Given the description of an element on the screen output the (x, y) to click on. 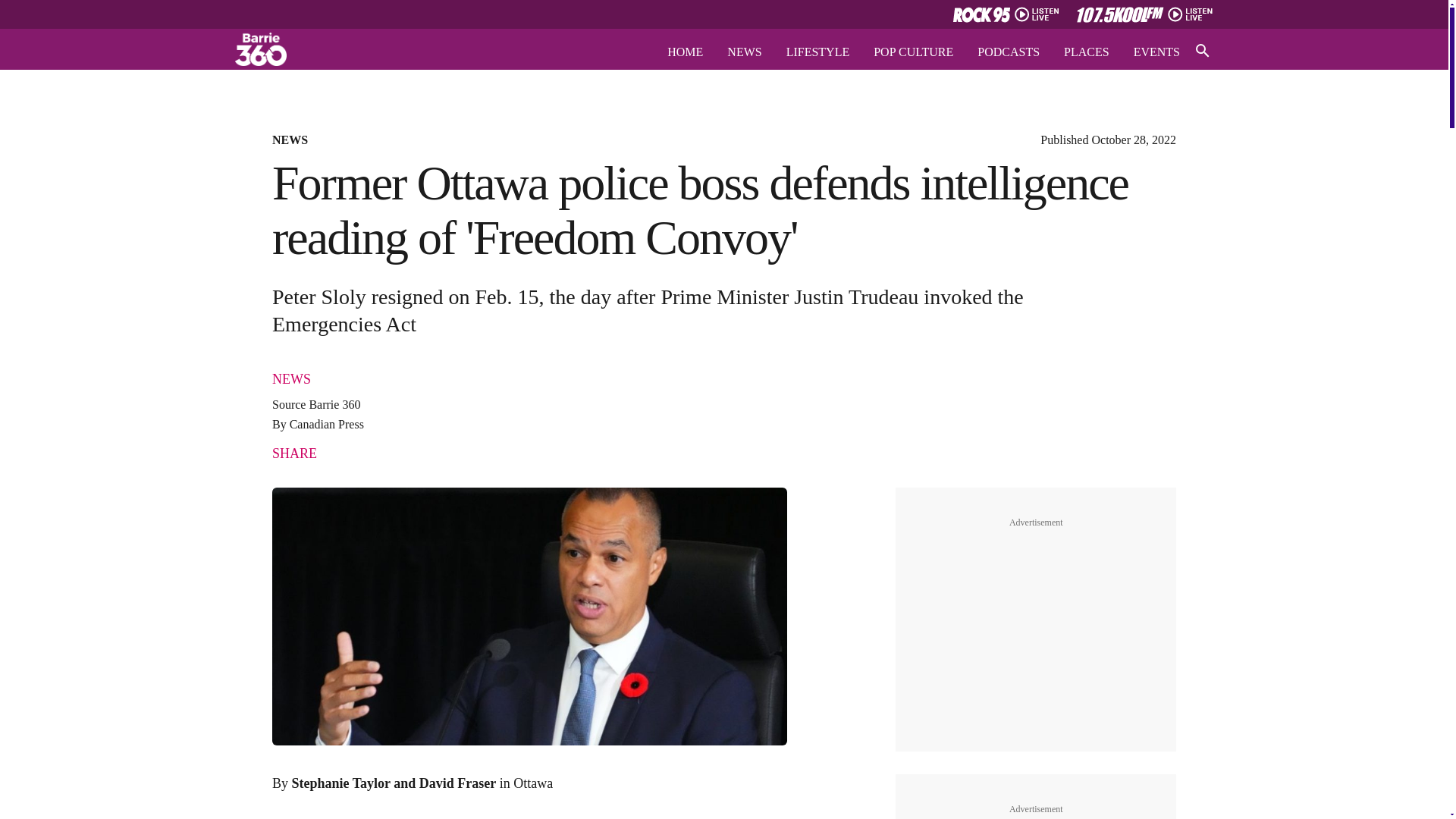
Barrie 360 (333, 404)
Canadian Press (326, 423)
Search (27, 10)
SHARE (294, 452)
POP CULTURE (913, 51)
PLACES (1086, 51)
EVENTS (1156, 51)
LIFESTYLE (818, 51)
NEWS (743, 51)
NEWS (291, 378)
PODCASTS (1007, 51)
View all posts in News (291, 378)
HOME (684, 51)
